Given the description of an element on the screen output the (x, y) to click on. 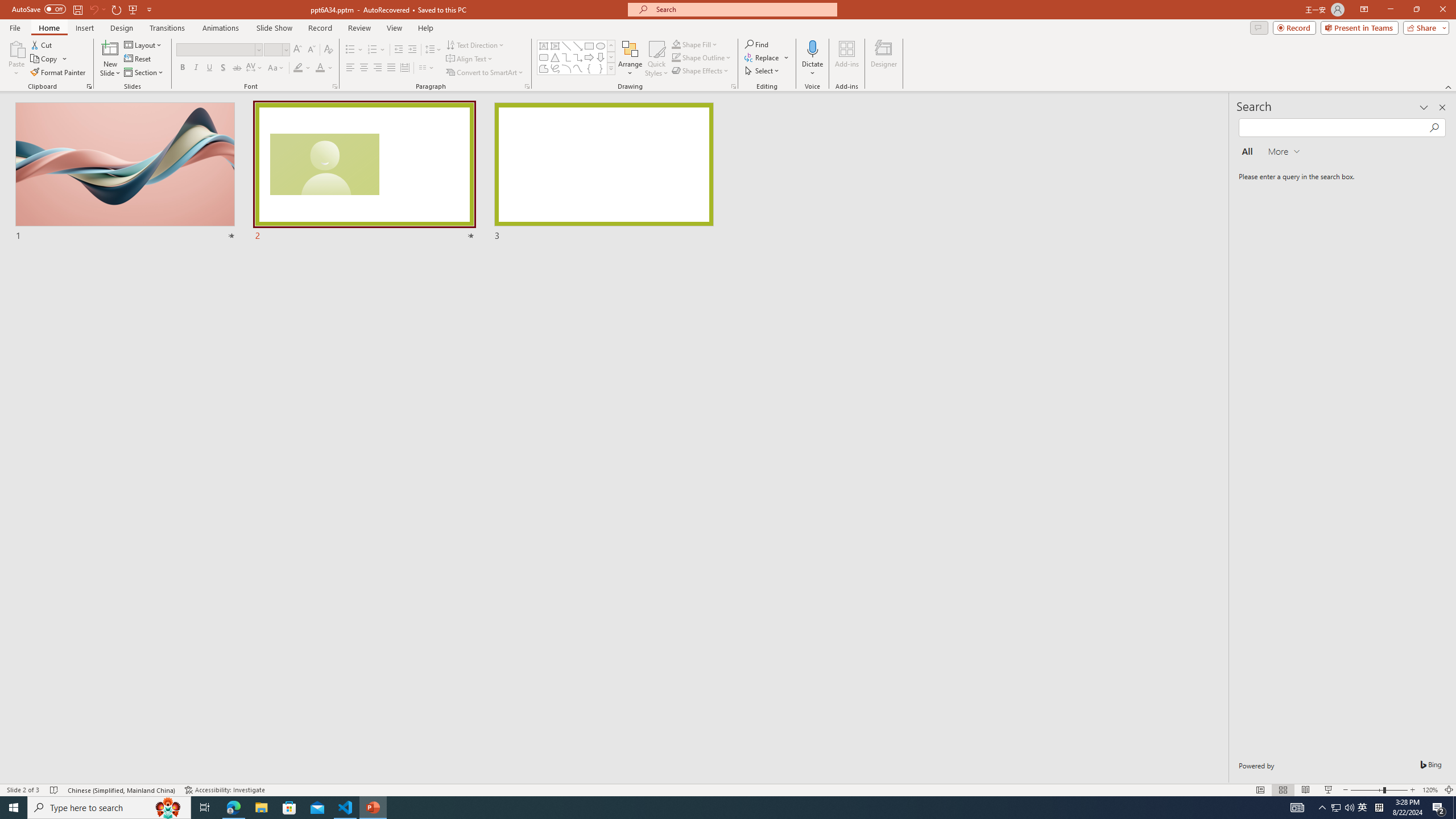
Zoom 120% (1430, 790)
